Given the description of an element on the screen output the (x, y) to click on. 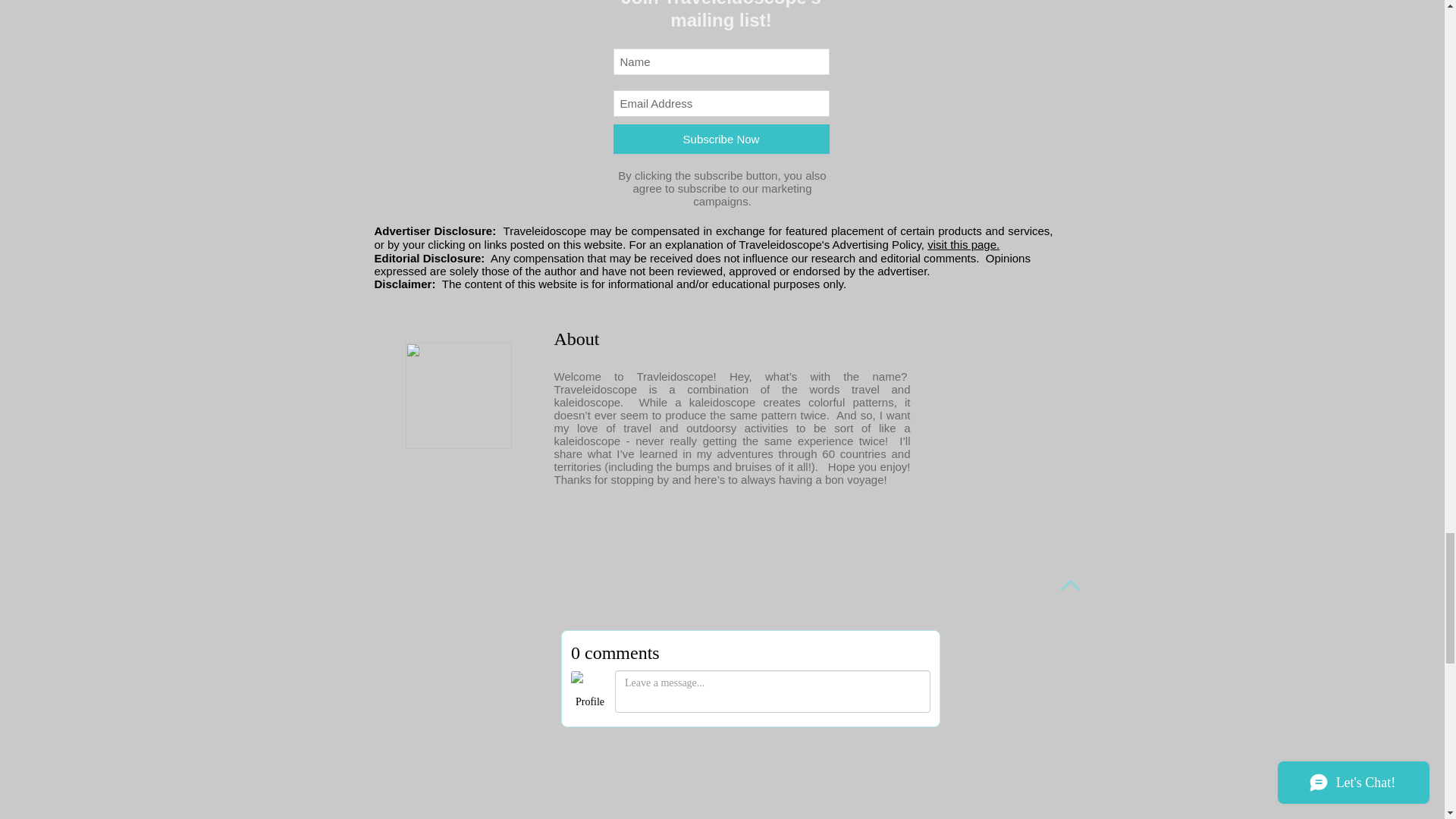
Comments (750, 724)
